Given the description of an element on the screen output the (x, y) to click on. 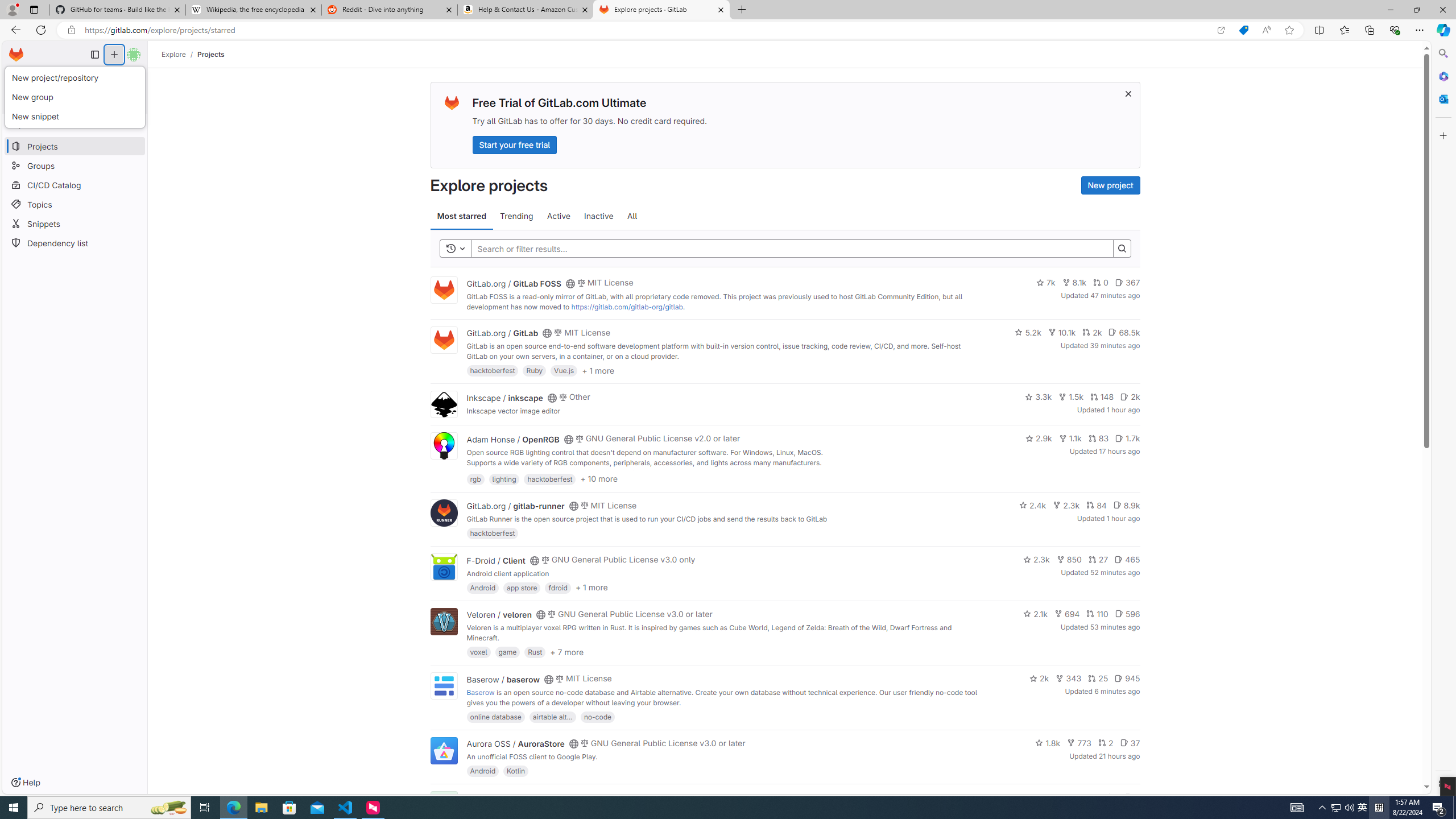
CI/CD Catalog (74, 185)
rgb (475, 478)
343 (1068, 678)
148 (1101, 396)
Dismiss trial promotion (1128, 93)
Edouard Klein / falsisign (512, 797)
fdroid (558, 587)
110 (1097, 613)
